Given the description of an element on the screen output the (x, y) to click on. 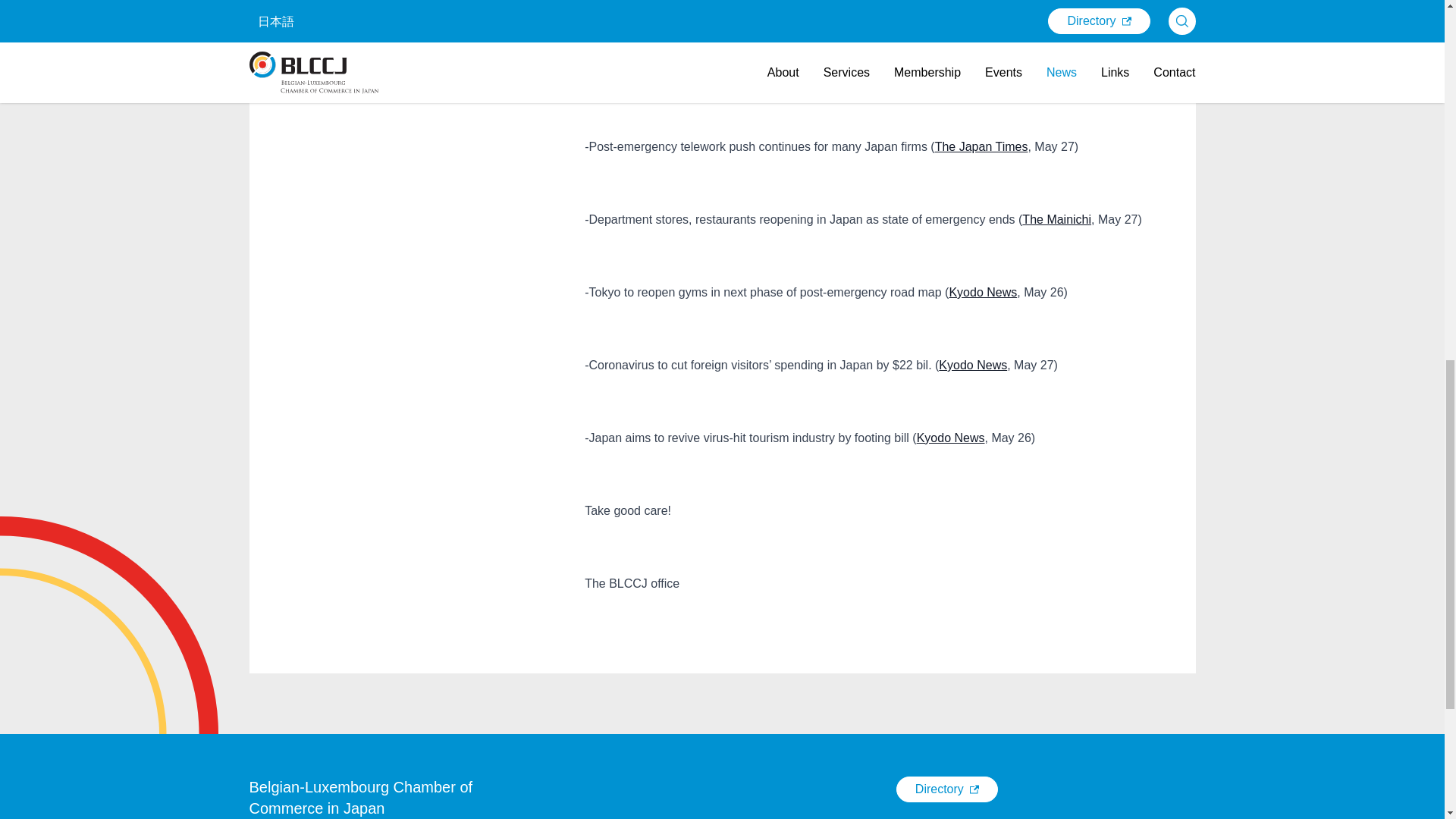
Kyodo News (951, 437)
The Japan Times (860, 62)
Directory (946, 789)
The Mainichi (1056, 219)
Kyodo News (982, 291)
The Japan Times (980, 146)
Kyodo News (973, 364)
